Given the description of an element on the screen output the (x, y) to click on. 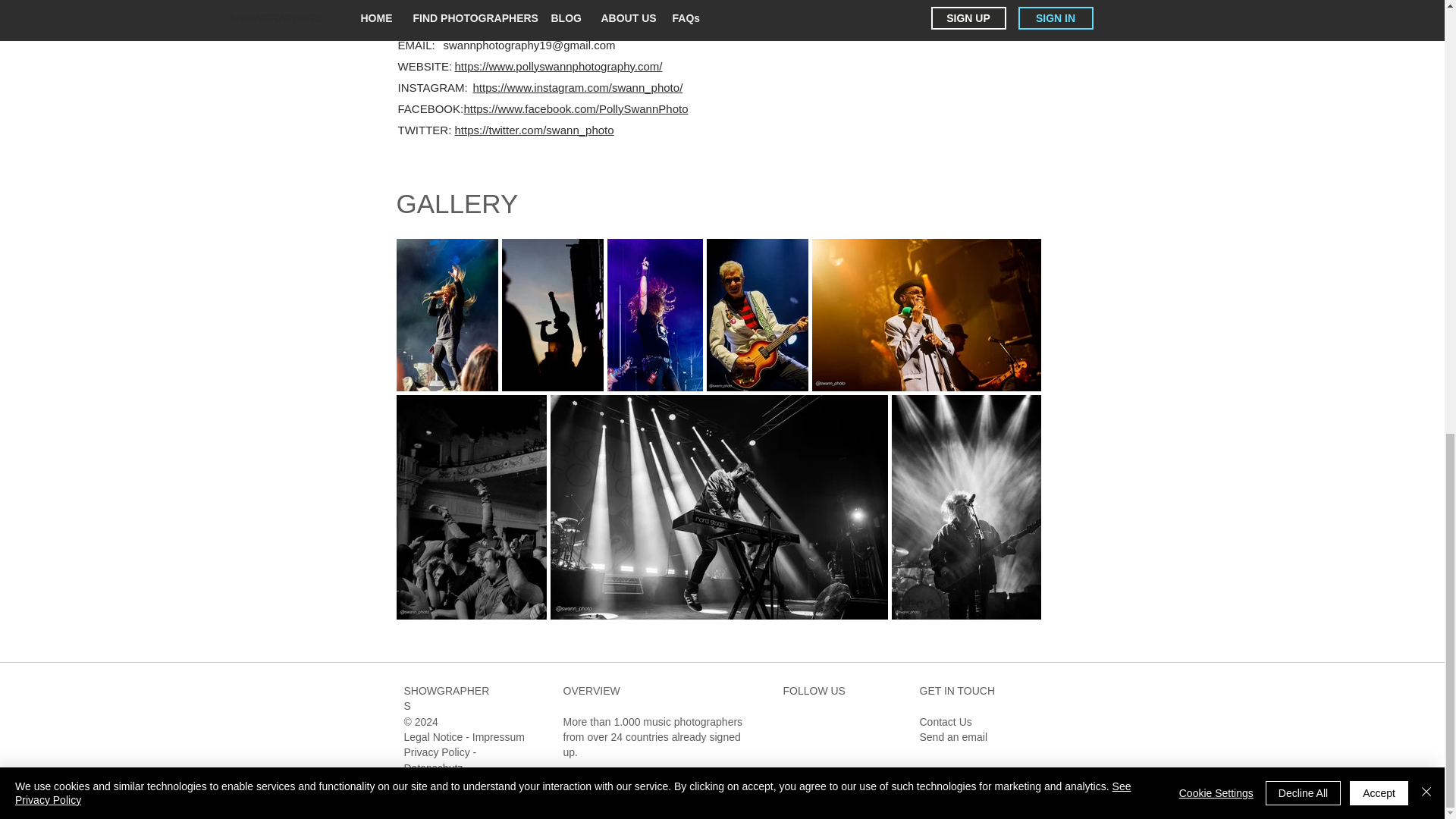
Send an email (952, 736)
Legal Notice - Impressum (463, 736)
Privacy Policy - Datenschutz (439, 759)
SHOWGRAPHERS (446, 697)
Contact Us (944, 721)
